Given the description of an element on the screen output the (x, y) to click on. 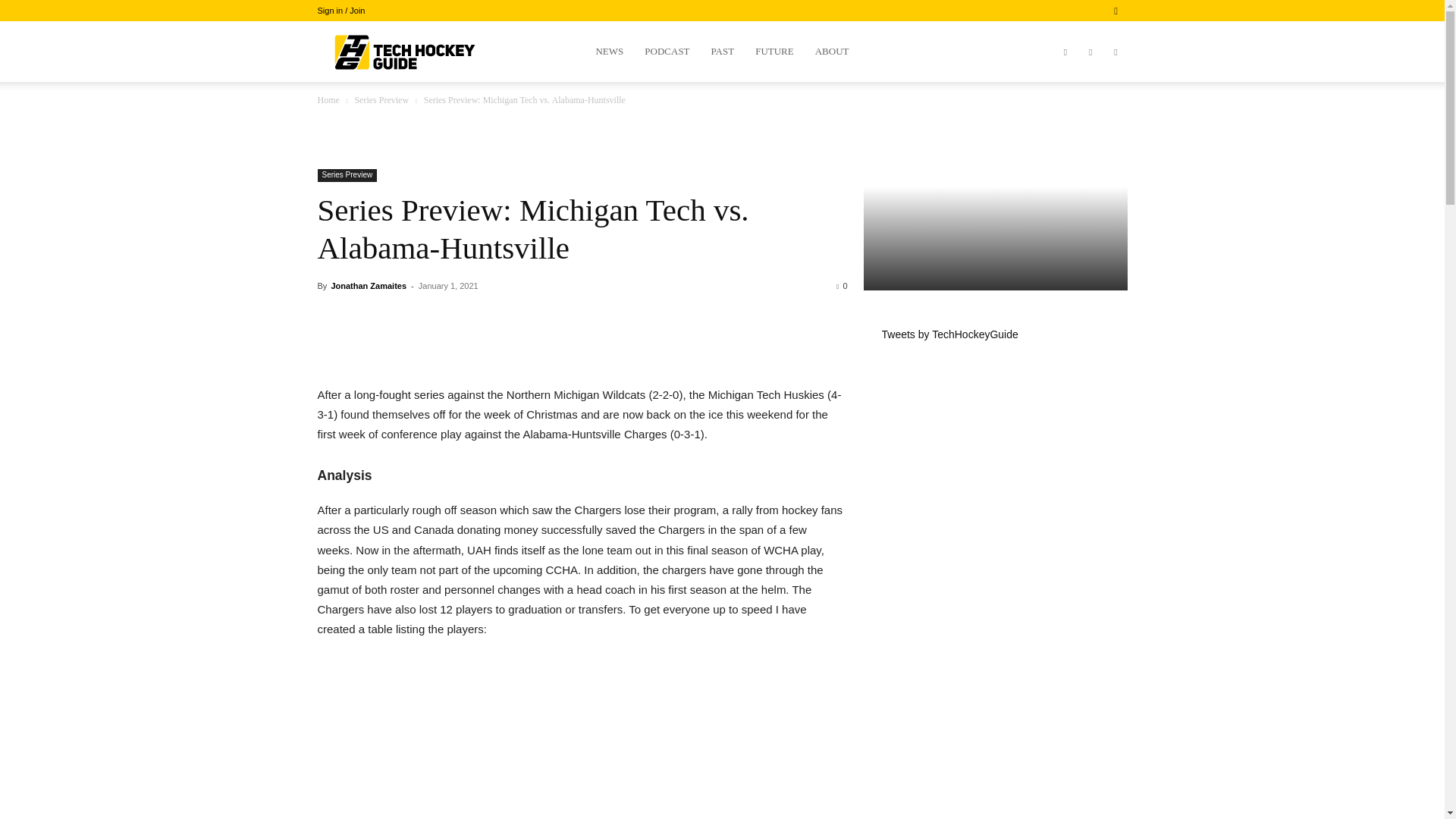
Search (1085, 64)
View all posts in Series Preview (381, 100)
